Given the description of an element on the screen output the (x, y) to click on. 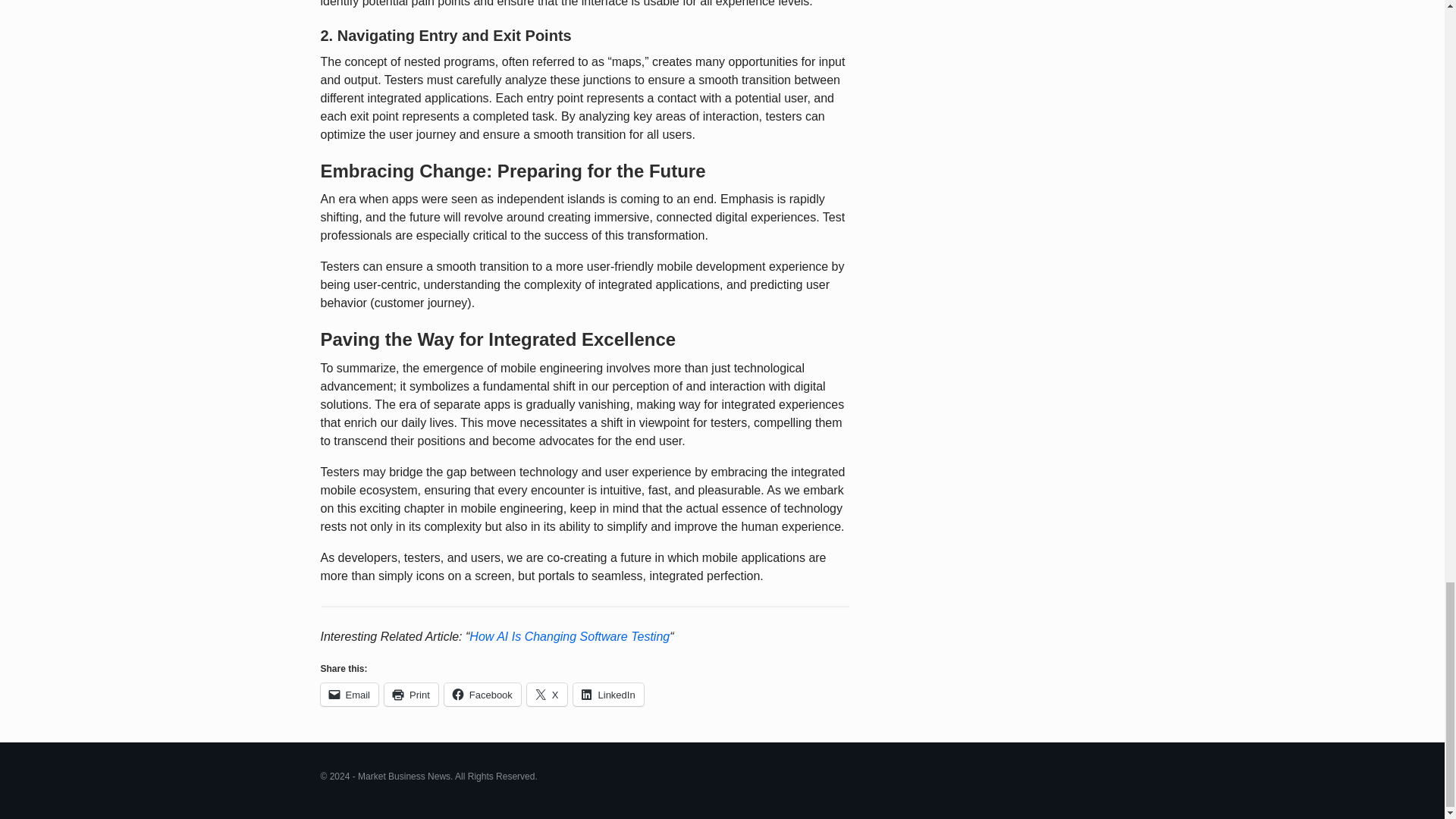
How AI Is Changing Software Testing (568, 635)
X (547, 694)
Print (411, 694)
Click to email a link to a friend (349, 694)
Click to print (411, 694)
Click to share on Facebook (482, 694)
LinkedIn (608, 694)
Email (349, 694)
Facebook (482, 694)
Click to share on LinkedIn (608, 694)
Click to share on X (547, 694)
